Given the description of an element on the screen output the (x, y) to click on. 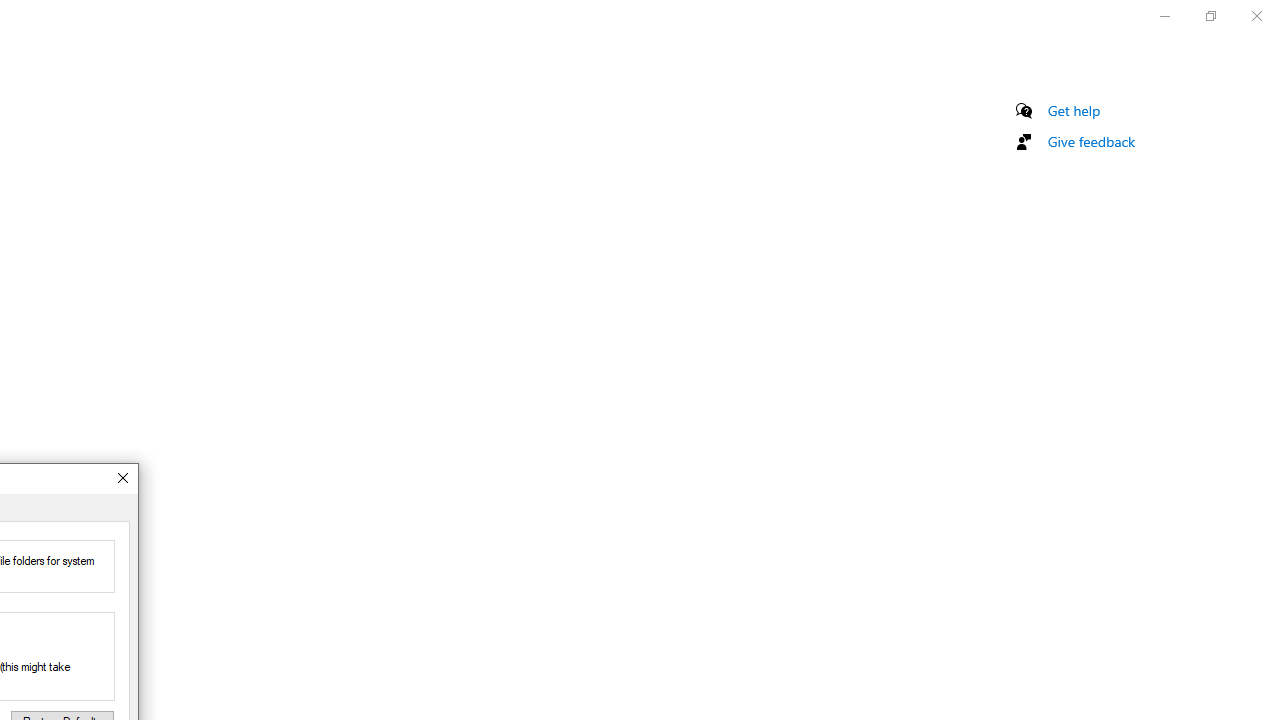
Close (121, 478)
